Given the description of an element on the screen output the (x, y) to click on. 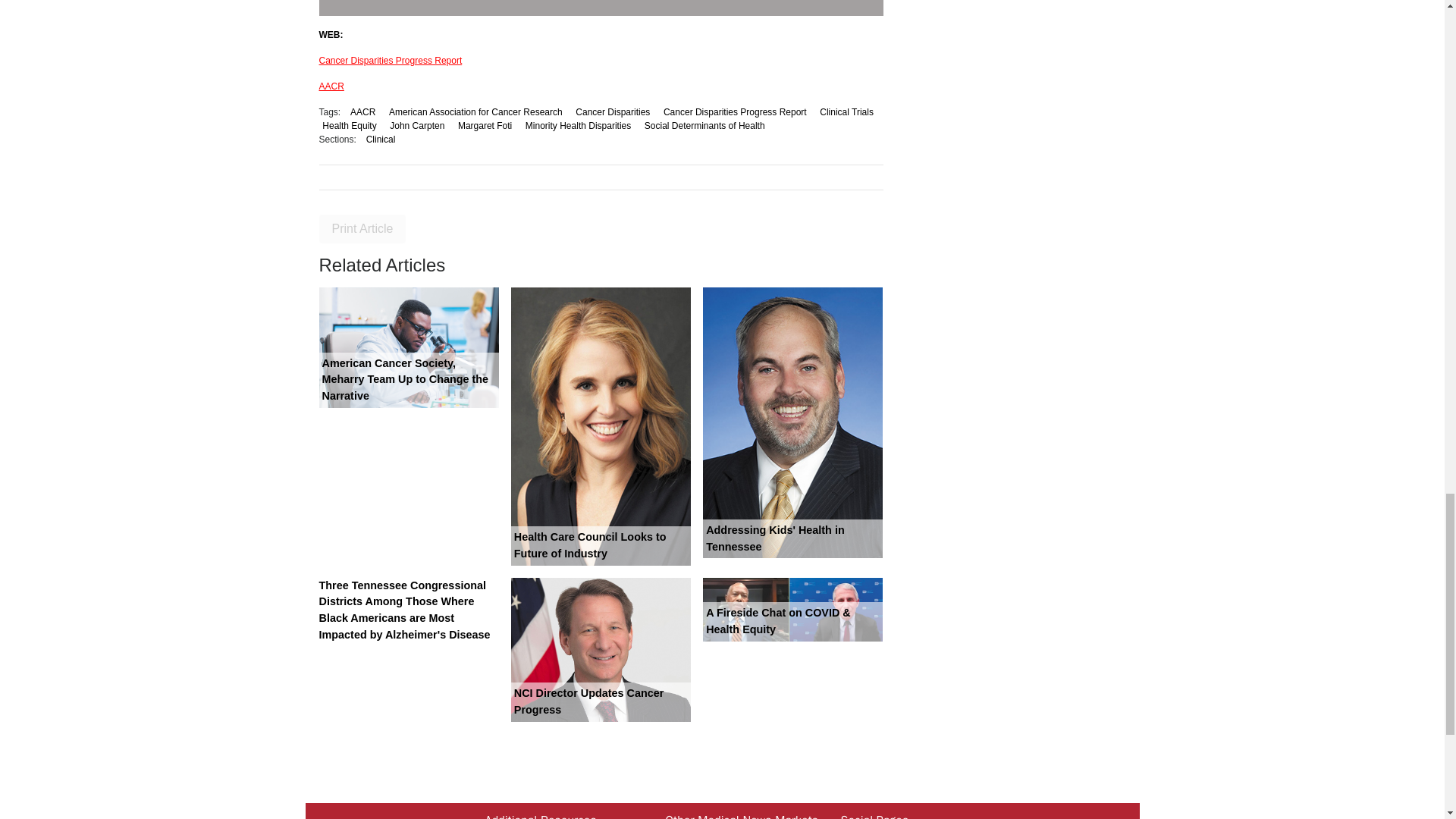
Minority Health Disparities (577, 125)
John Carpten (416, 125)
AACR (330, 86)
Social Determinants of Health (704, 125)
Clinical Trials (845, 111)
Cancer Disparities Progress Report (389, 60)
Cancer Disparities (612, 111)
Cancer Disparities Progress Report (734, 111)
American Association for Cancer Research (475, 111)
AACR (362, 111)
Health Equity (349, 125)
Margaret Foti (484, 125)
Clinical (380, 139)
